Given the description of an element on the screen output the (x, y) to click on. 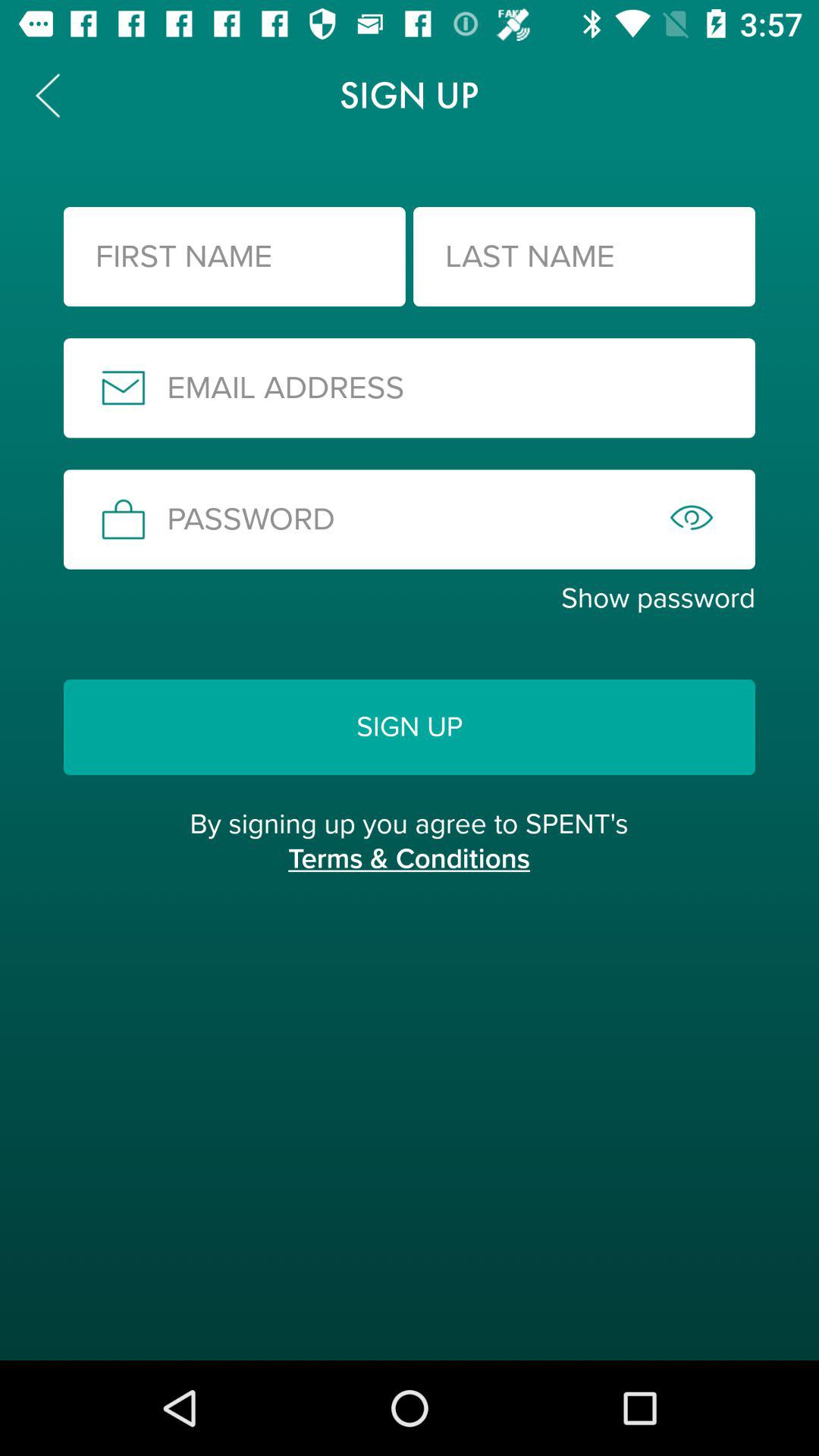
turn on the item above sign up icon (409, 598)
